Given the description of an element on the screen output the (x, y) to click on. 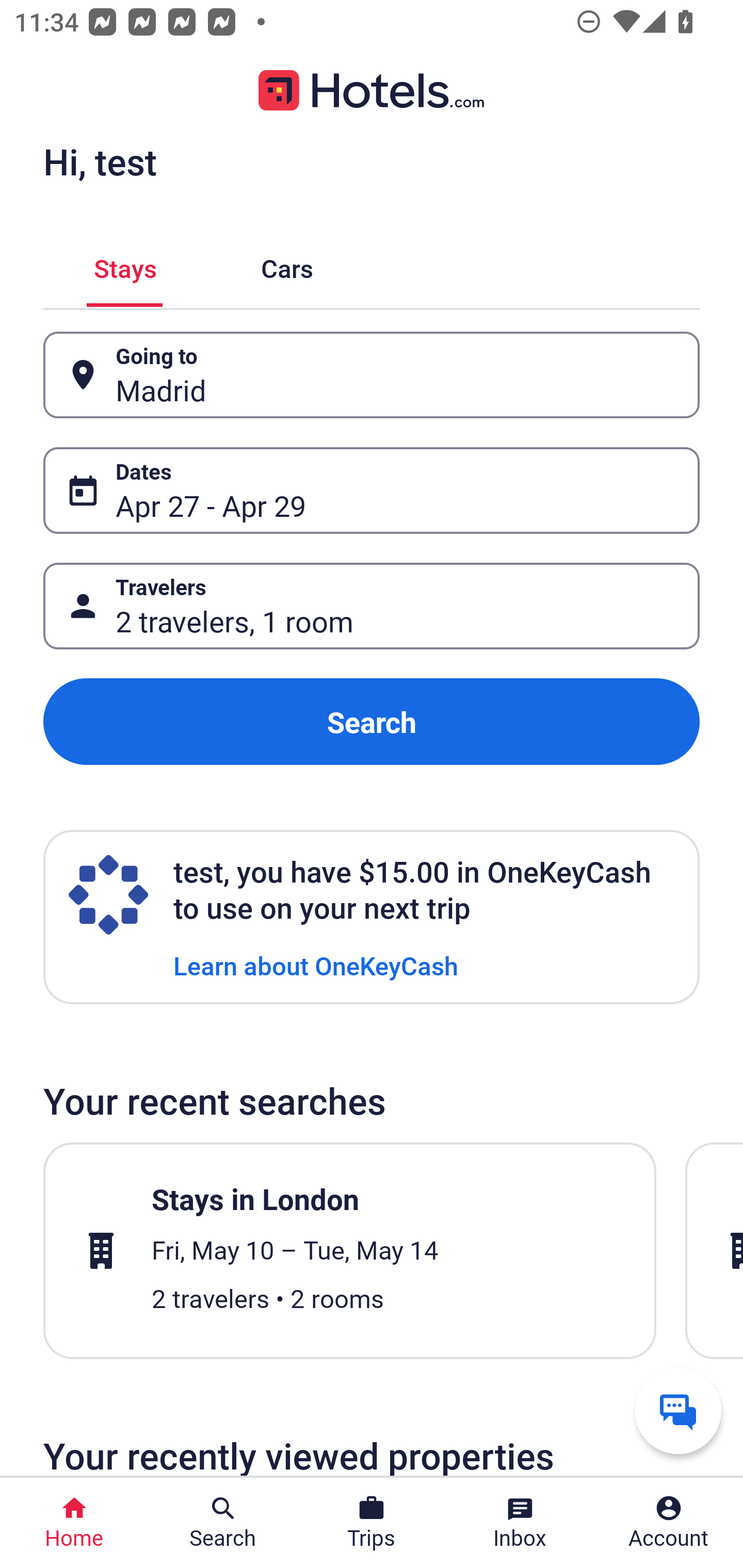
Hi, test (99, 161)
Cars (286, 265)
Going to Button Madrid (371, 375)
Dates Button Apr 27 - Apr 29 (371, 489)
Travelers Button 2 travelers, 1 room (371, 605)
Search (371, 721)
Learn about OneKeyCash Learn about OneKeyCash Link (315, 964)
Get help from a virtual agent (677, 1410)
Search Search Button (222, 1522)
Trips Trips Button (371, 1522)
Inbox Inbox Button (519, 1522)
Account Profile. Button (668, 1522)
